Given the description of an element on the screen output the (x, y) to click on. 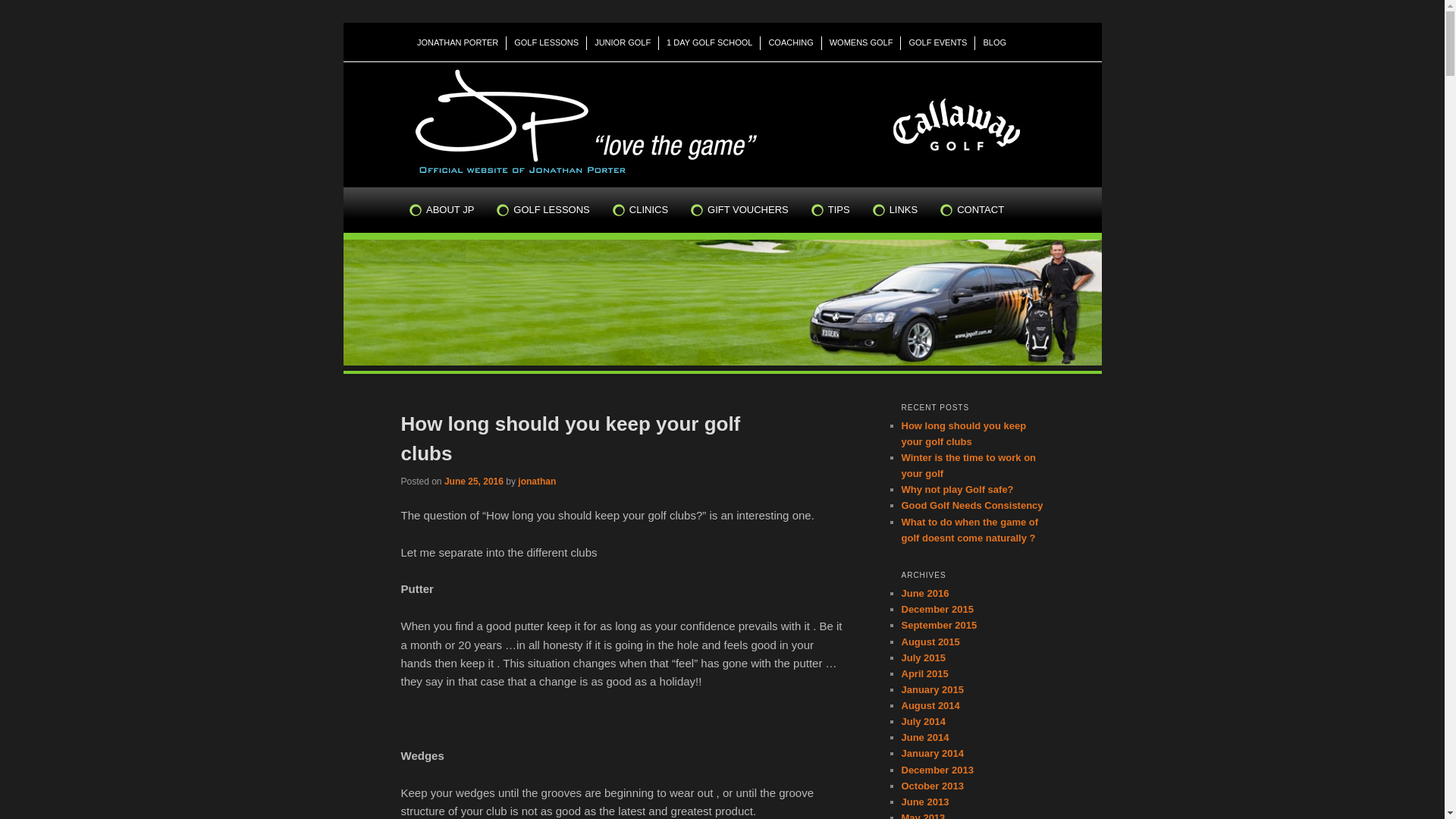
August 2014 Element type: text (929, 705)
jonathan Element type: text (536, 481)
June 2016 Element type: text (924, 593)
JONATHAN PORTER Element type: text (457, 43)
How long should you keep your golf clubs Element type: text (963, 433)
GIFT VOUCHERS Element type: text (750, 209)
JUNIOR GOLF Element type: text (622, 43)
January 2015 Element type: text (931, 689)
LINKS Element type: text (906, 209)
Good Golf Needs Consistency Element type: text (971, 505)
GOLF LESSONS Element type: text (553, 209)
August 2015 Element type: text (929, 641)
October 2013 Element type: text (931, 785)
December 2015 Element type: text (936, 609)
CLINICS Element type: text (651, 209)
June 2013 Element type: text (924, 801)
WOMENS GOLF Element type: text (861, 43)
July 2015 Element type: text (922, 657)
June 25, 2016 Element type: text (473, 481)
December 2013 Element type: text (936, 769)
Why not play Golf safe? Element type: text (956, 489)
July 2014 Element type: text (922, 721)
CONTACT Element type: text (983, 209)
Skip to primary content Element type: text (472, 392)
GOLF LESSONS Element type: text (546, 43)
What to do when the game of golf doesnt come naturally ? Element type: text (969, 528)
COACHING Element type: text (790, 43)
GOLF EVENTS Element type: text (937, 43)
TIPS Element type: text (841, 209)
ABOUT JP Element type: text (452, 209)
BLOG Element type: text (994, 43)
April 2015 Element type: text (923, 673)
Winter is the time to work on your golf Element type: text (967, 465)
Skip to secondary content Element type: text (479, 392)
1 DAY GOLF SCHOOL Element type: text (709, 43)
How long should you keep your golf clubs Element type: text (570, 438)
June 2014 Element type: text (924, 737)
January 2014 Element type: text (931, 753)
September 2015 Element type: text (938, 624)
